Given the description of an element on the screen output the (x, y) to click on. 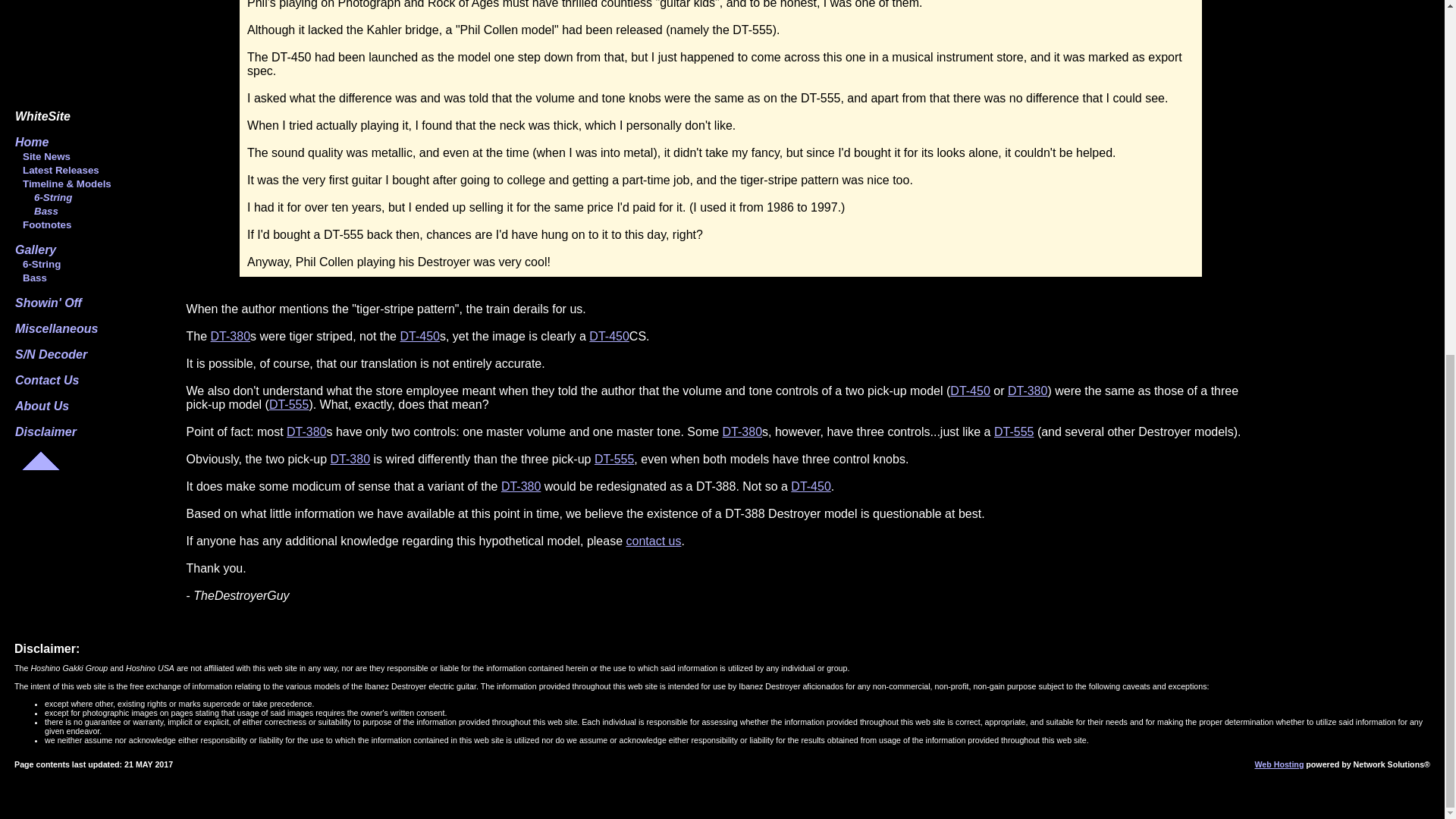
DT-555 (288, 404)
DT-450 (608, 336)
DT-380 (230, 336)
DT-450 (418, 336)
Web Hosting (1278, 764)
contact us (653, 540)
DT-450 (809, 486)
DT-380 (349, 459)
DT-380 (520, 486)
DT-380 (306, 431)
DT-555 (1013, 431)
DT-450 (970, 390)
DT-380 (741, 431)
DT-380 (1026, 390)
DT-555 (613, 459)
